Given the description of an element on the screen output the (x, y) to click on. 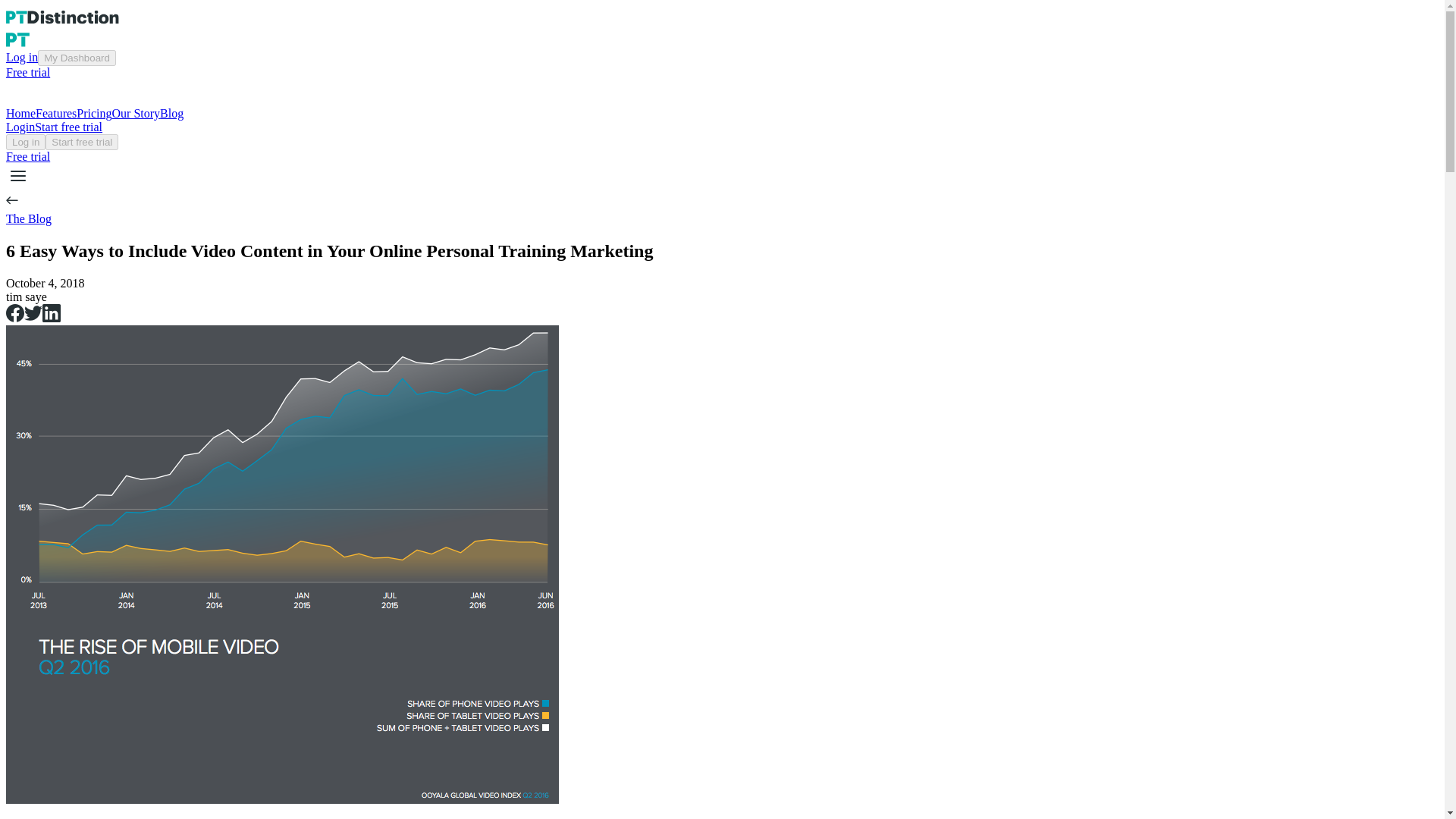
Start free trial (81, 141)
Log in (25, 141)
Start free trial (67, 126)
Free trial (27, 155)
Our Story (136, 113)
Free trial (27, 72)
Features (55, 113)
Pricing (94, 113)
Home (19, 113)
My Dashboard (76, 57)
Login (19, 126)
Blog (171, 113)
Log in (21, 56)
Start free trial (81, 141)
Log in (25, 141)
